Given the description of an element on the screen output the (x, y) to click on. 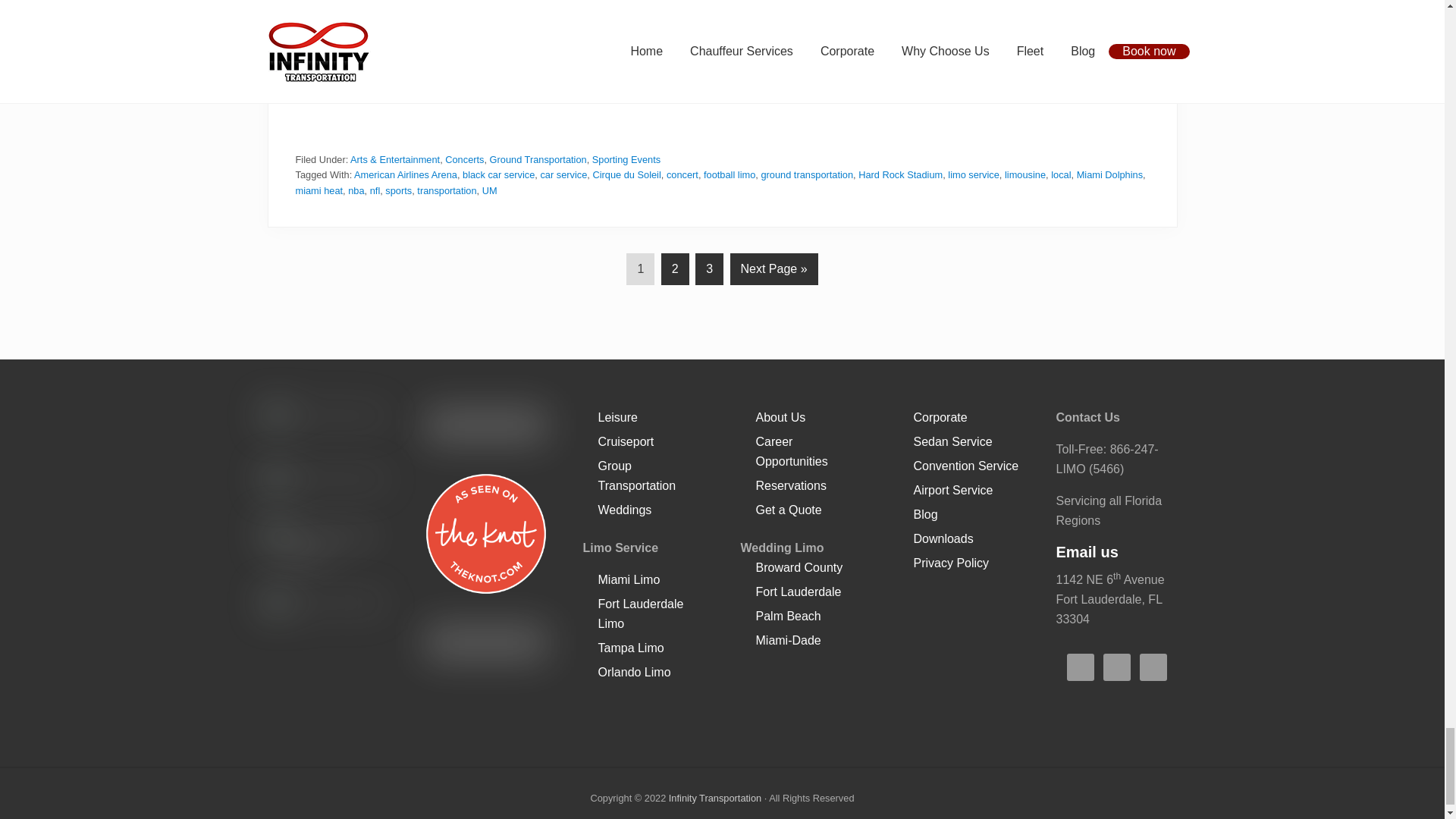
Infinity Transportation (714, 772)
weddingwire.com (485, 654)
Infinity Transportation Quotes and Reservations (721, 84)
